Given the description of an element on the screen output the (x, y) to click on. 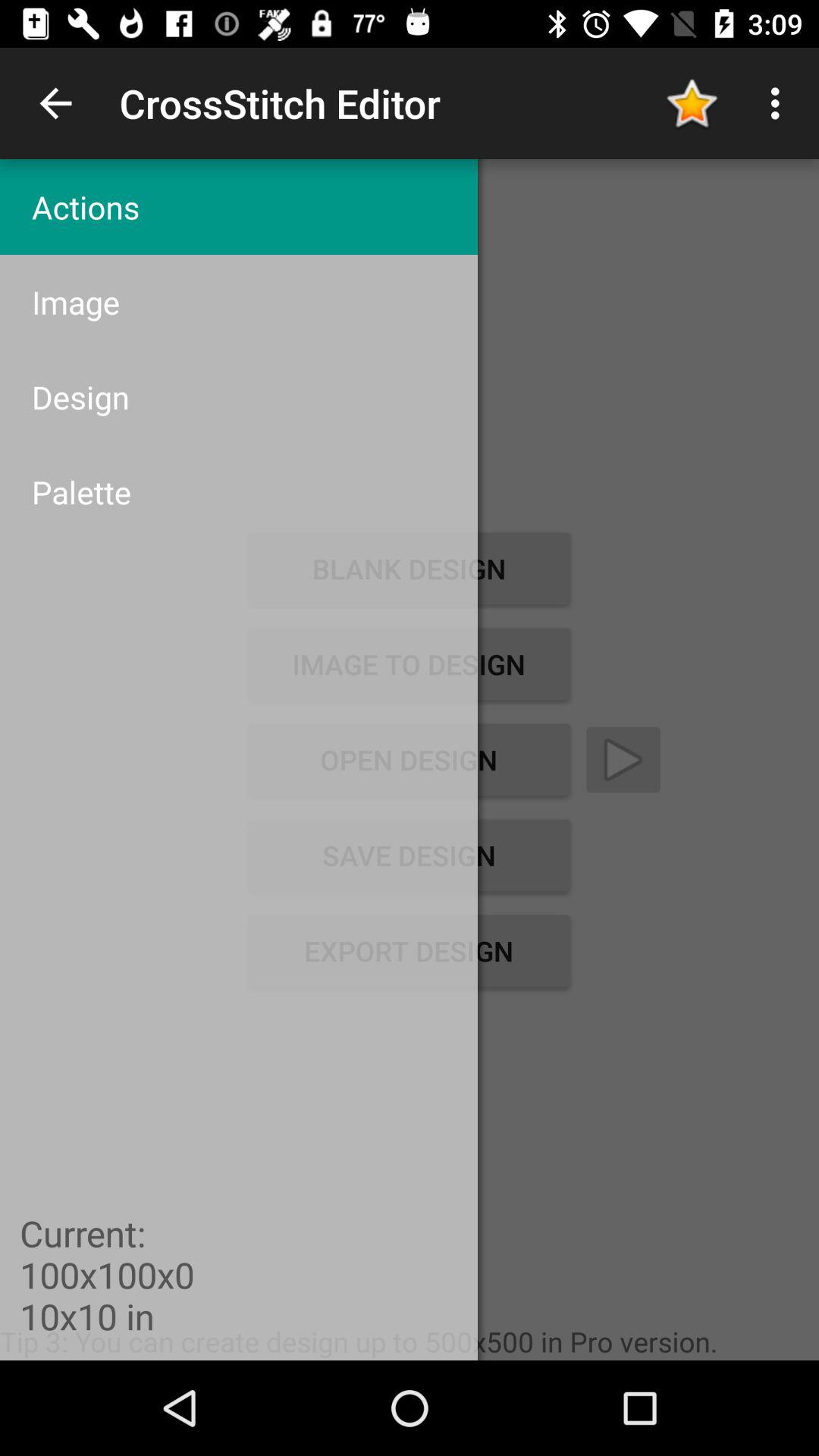
open item above export design (409, 855)
